Given the description of an element on the screen output the (x, y) to click on. 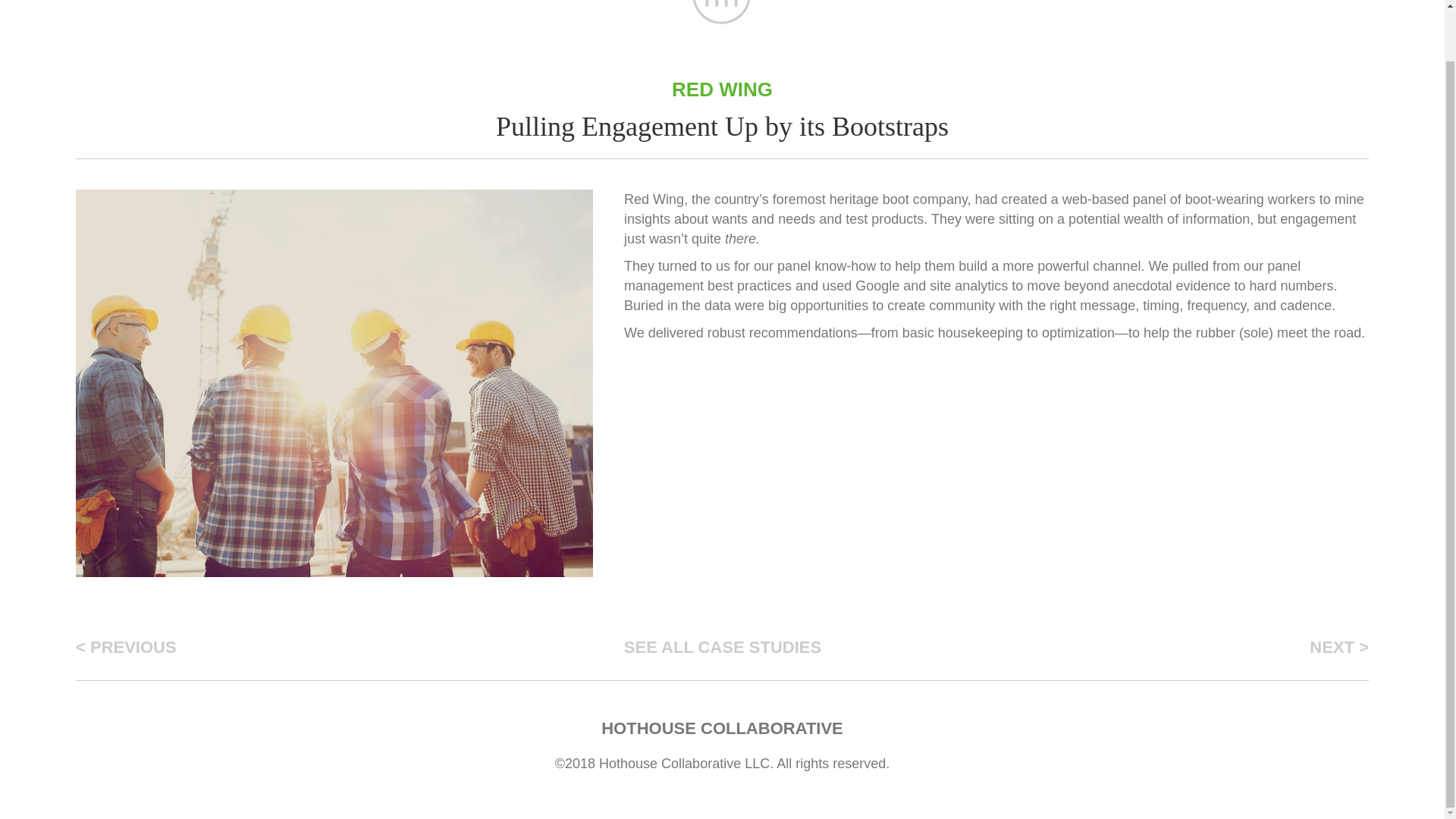
HOTHOUSE COLLABORATIVE (722, 728)
CASE STUDIES (902, 1)
CLIENTS (805, 1)
WHO WE ARE (372, 1)
WHAT WE BELIEVE (603, 1)
CONTACT (1068, 1)
WHAT WE DO (478, 1)
SEE ALL CASE STUDIES (722, 643)
KUDOS (994, 1)
